Given the description of an element on the screen output the (x, y) to click on. 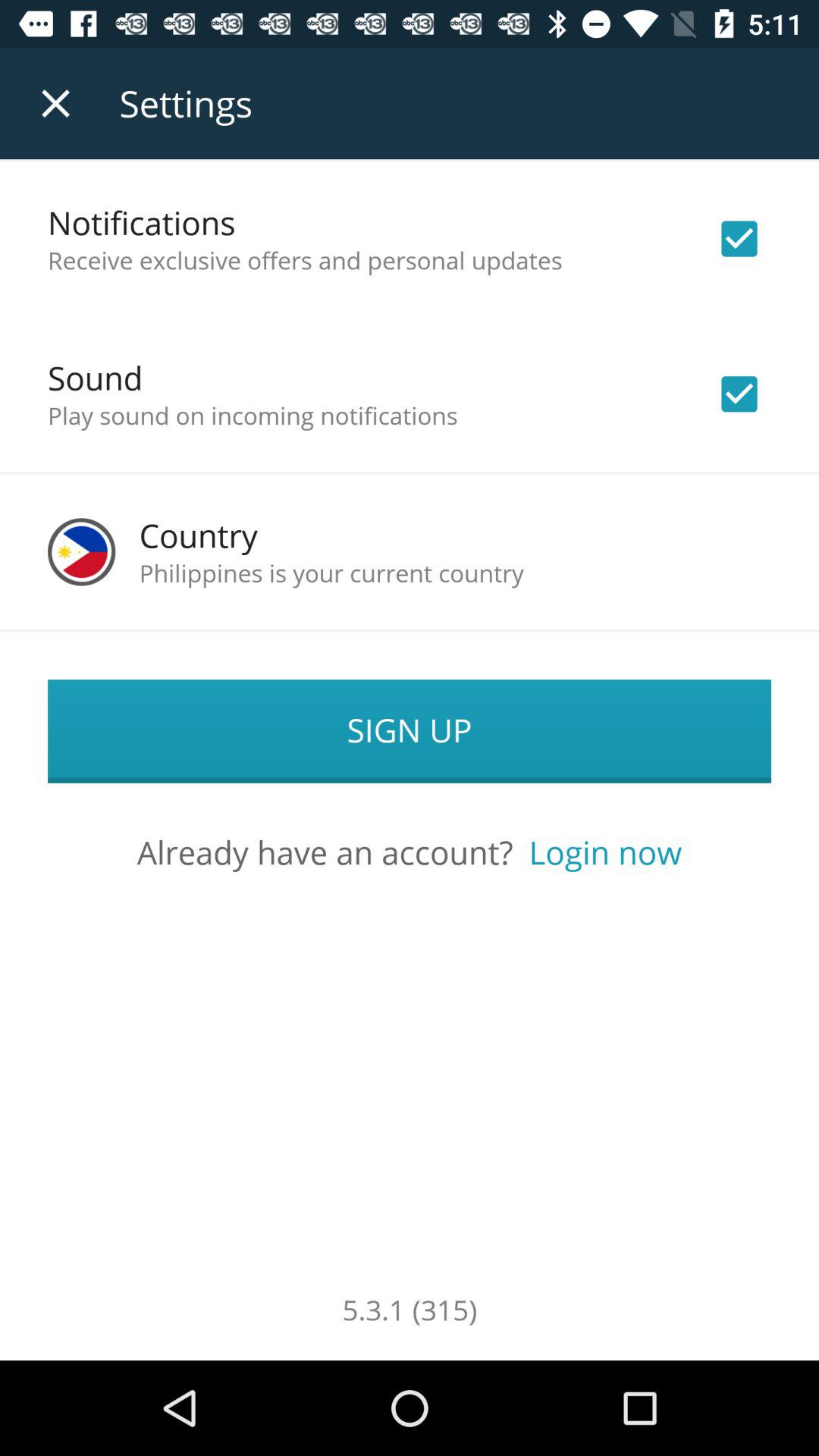
tap item below the sign up (604, 851)
